Given the description of an element on the screen output the (x, y) to click on. 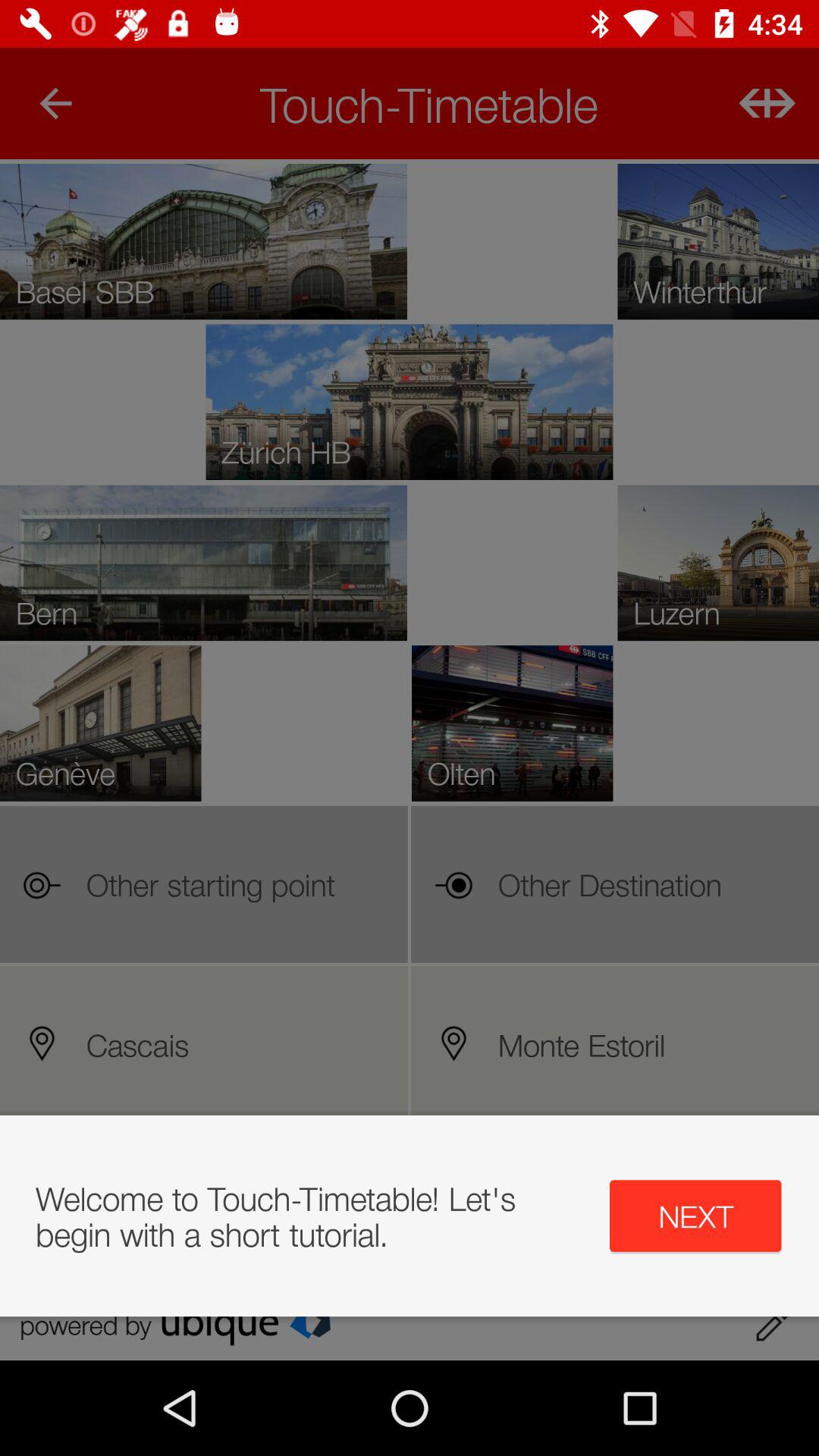
click the button at the bottom right corner (695, 1215)
